Given the description of an element on the screen output the (x, y) to click on. 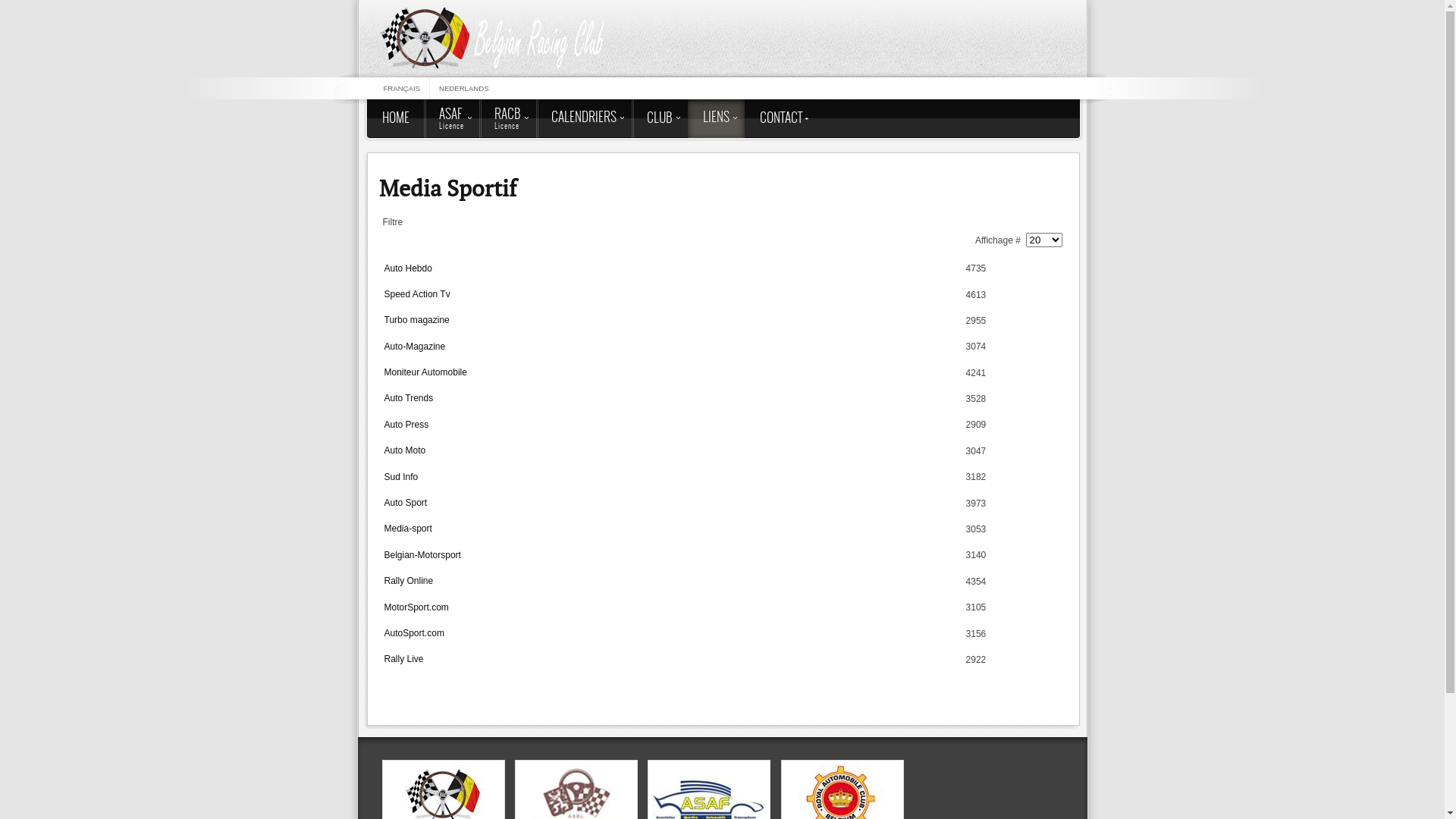
NEDERLANDS Element type: text (463, 88)
CONTACT + Element type: text (783, 118)
Turbo magazine Element type: text (415, 319)
Auto Sport Element type: text (404, 502)
Sud Info Element type: text (400, 476)
Speed Action Tv Element type: text (416, 293)
Auto Moto Element type: text (404, 450)
Auto-Magazine Element type: text (414, 346)
Media-sport Element type: text (407, 528)
AutoSport.com Element type: text (413, 632)
CLUB Element type: text (658, 118)
Belgian-Motorsport Element type: text (421, 554)
Moniteur Automobile Element type: text (424, 372)
Auto Hebdo Element type: text (407, 268)
MotorSport.com Element type: text (415, 607)
Auto Press Element type: text (405, 424)
Rally Live Element type: text (403, 658)
Rally Online Element type: text (408, 580)
Auto Trends Element type: text (408, 397)
HOME Element type: text (395, 118)
